Given the description of an element on the screen output the (x, y) to click on. 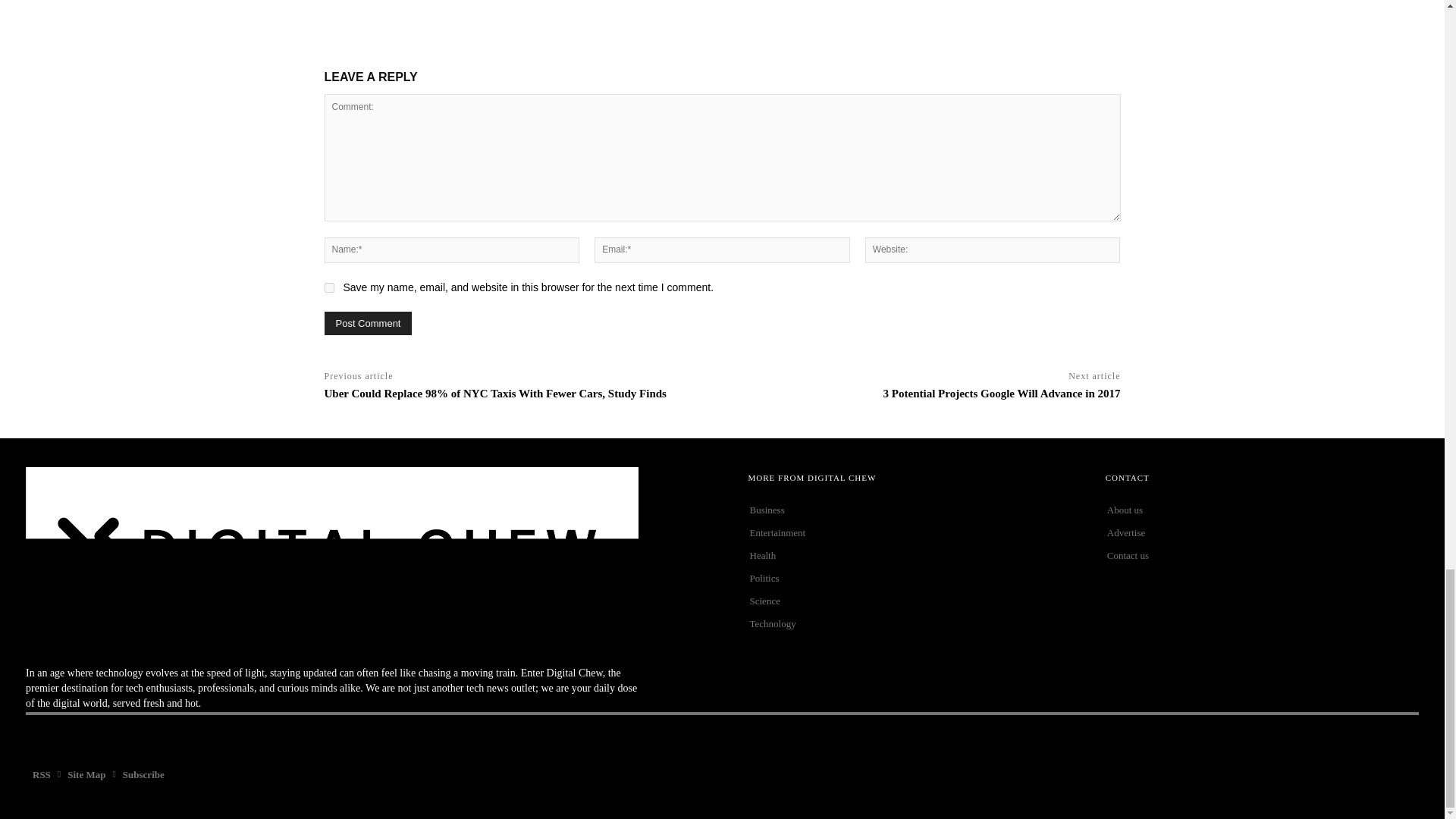
Business (905, 509)
yes (329, 287)
Post Comment (368, 323)
Technology (905, 623)
Health (905, 555)
3 Potential Projects Google Will Advance in 2017 (1002, 393)
Politics (905, 578)
Science (905, 600)
Advertise (1262, 532)
About us (1262, 509)
